Given the description of an element on the screen output the (x, y) to click on. 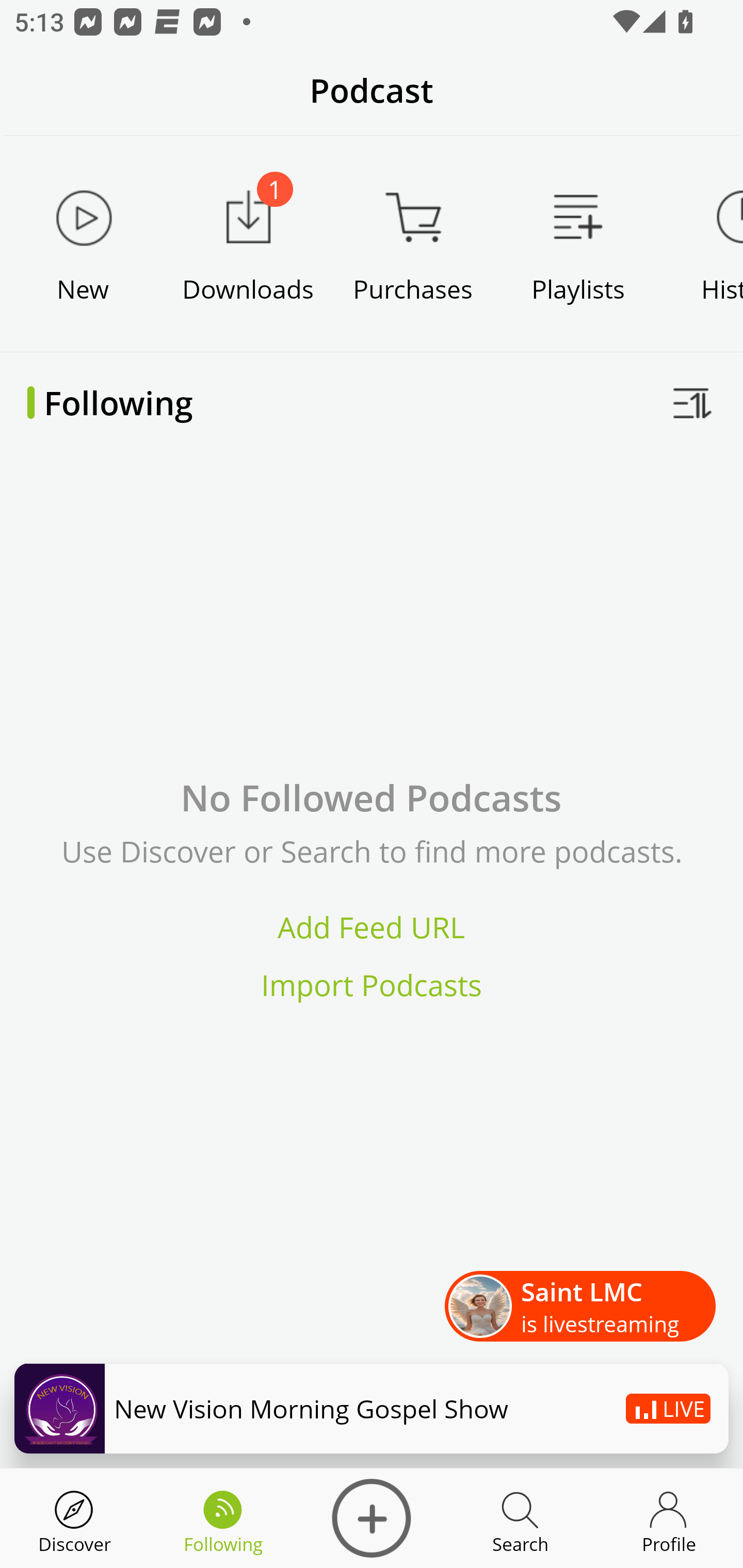
Add Feed URL (371, 927)
Import Podcasts (371, 984)
Saint LMC is livestreaming (580, 1306)
Podbean New Vision Morning Gospel Show LIVE (371, 1407)
Discover (74, 1518)
Discover (371, 1518)
Discover Search (519, 1518)
Discover Profile (668, 1518)
